Given the description of an element on the screen output the (x, y) to click on. 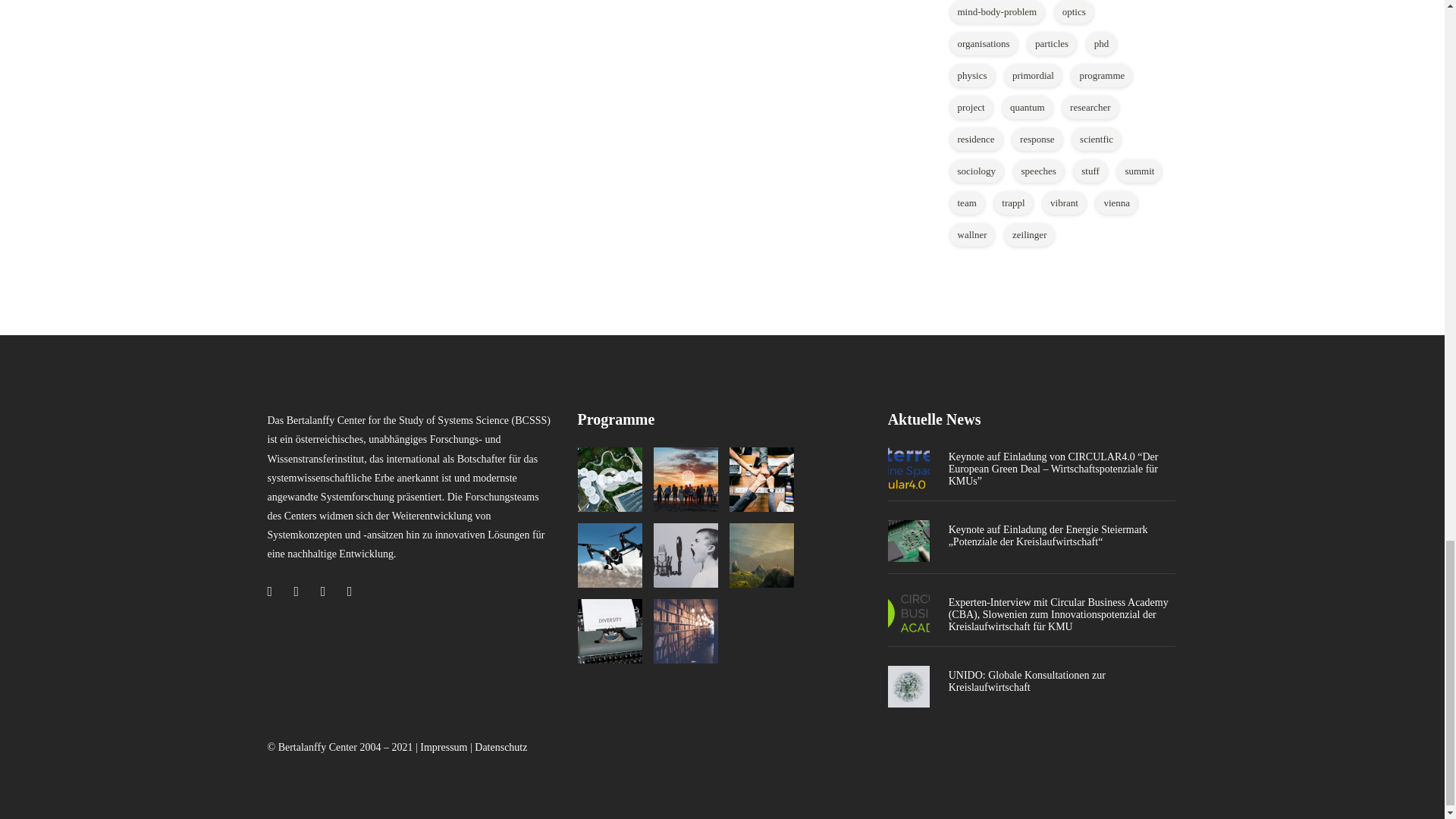
European Meetings on Cybernetics and Systems Research (610, 555)
Ecocivilisation (685, 479)
Transdisciplinarity Lab (761, 479)
Circular Economy Forum Austria (610, 479)
Systems Philosophy Lab (761, 555)
International Encyclopedia of Systems and Cybernetics (610, 630)
Young Scientists and Researcher Awards (685, 555)
